Given the description of an element on the screen output the (x, y) to click on. 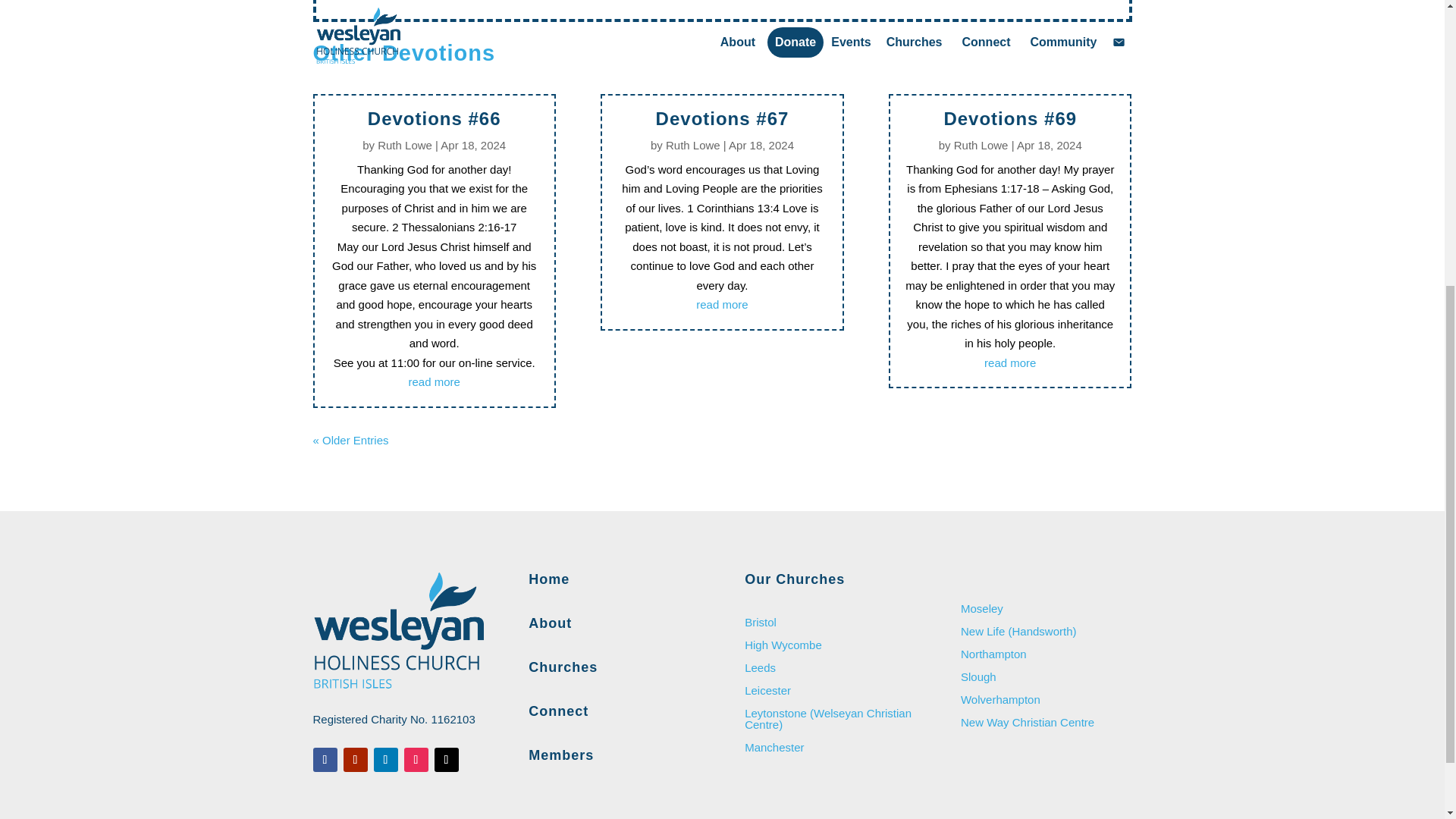
Follow on Youtube (354, 759)
Follow on Facebook (324, 759)
Posts by Ruth Lowe (692, 144)
Follow on LinkedIn (384, 759)
Posts by Ruth Lowe (981, 144)
Posts by Ruth Lowe (404, 144)
Follow on Instagram (415, 759)
Follow on X (445, 759)
WHC Stacked Color Logo (398, 631)
